Given the description of an element on the screen output the (x, y) to click on. 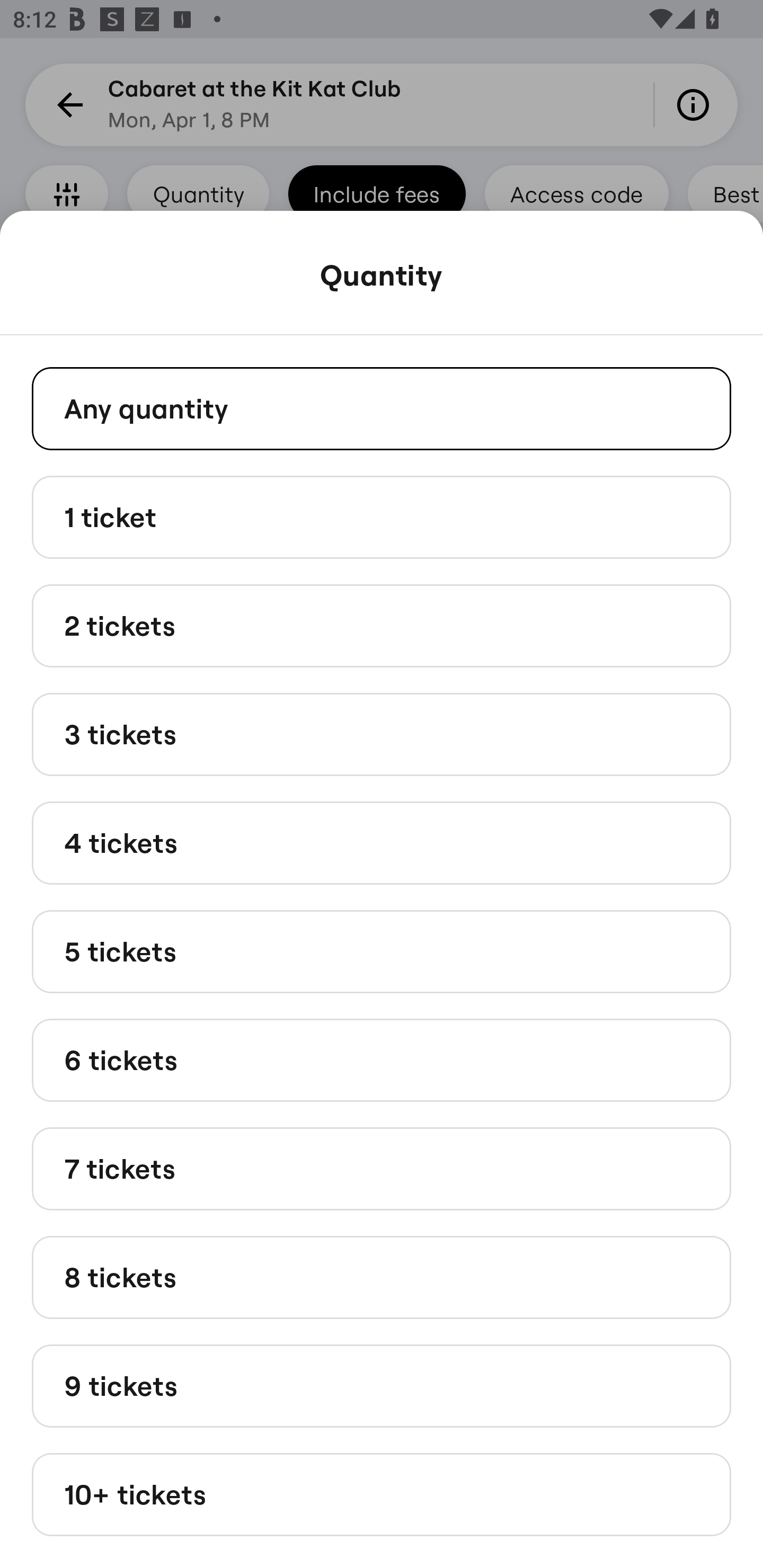
Any quantity (381, 408)
1 ticket (381, 516)
2 tickets (381, 625)
3 tickets (381, 734)
4 tickets (381, 842)
5 tickets (381, 950)
6 tickets (381, 1060)
7 tickets (381, 1168)
8 tickets (381, 1276)
9 tickets (381, 1384)
10+ tickets (381, 1494)
